Given the description of an element on the screen output the (x, y) to click on. 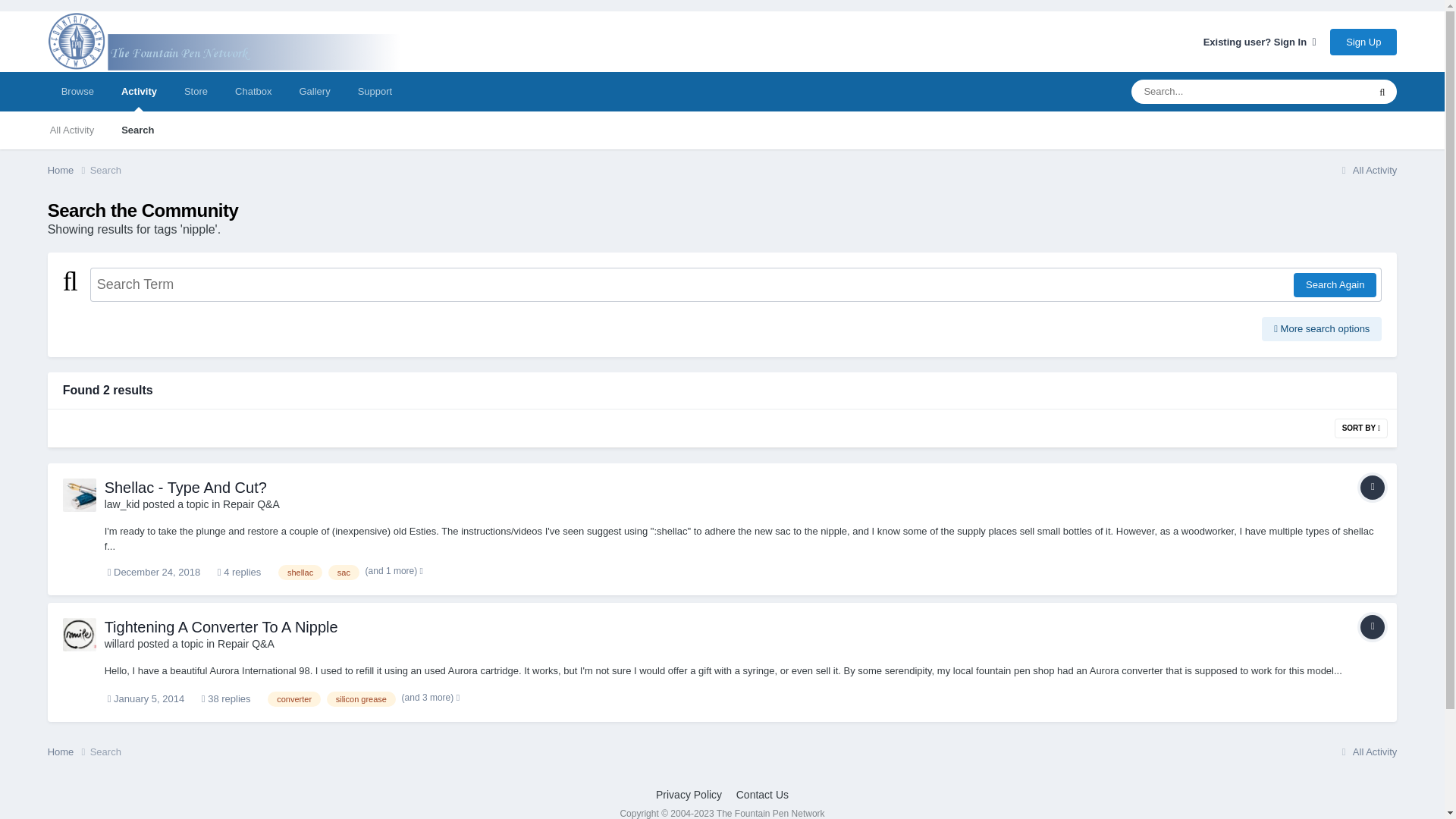
Search (137, 130)
Find other content tagged with 'shellac' (299, 572)
Support (374, 91)
Find other content tagged with 'converter' (293, 698)
Search (105, 170)
Sign Up (1363, 41)
Home (69, 170)
Find other content tagged with 'silicon grease' (361, 698)
All Activity (71, 130)
Activity (138, 91)
More search options (1321, 328)
Topic (1371, 487)
All Activity (1366, 170)
Find other content tagged with 'sac' (344, 572)
Topic (1371, 627)
